Given the description of an element on the screen output the (x, y) to click on. 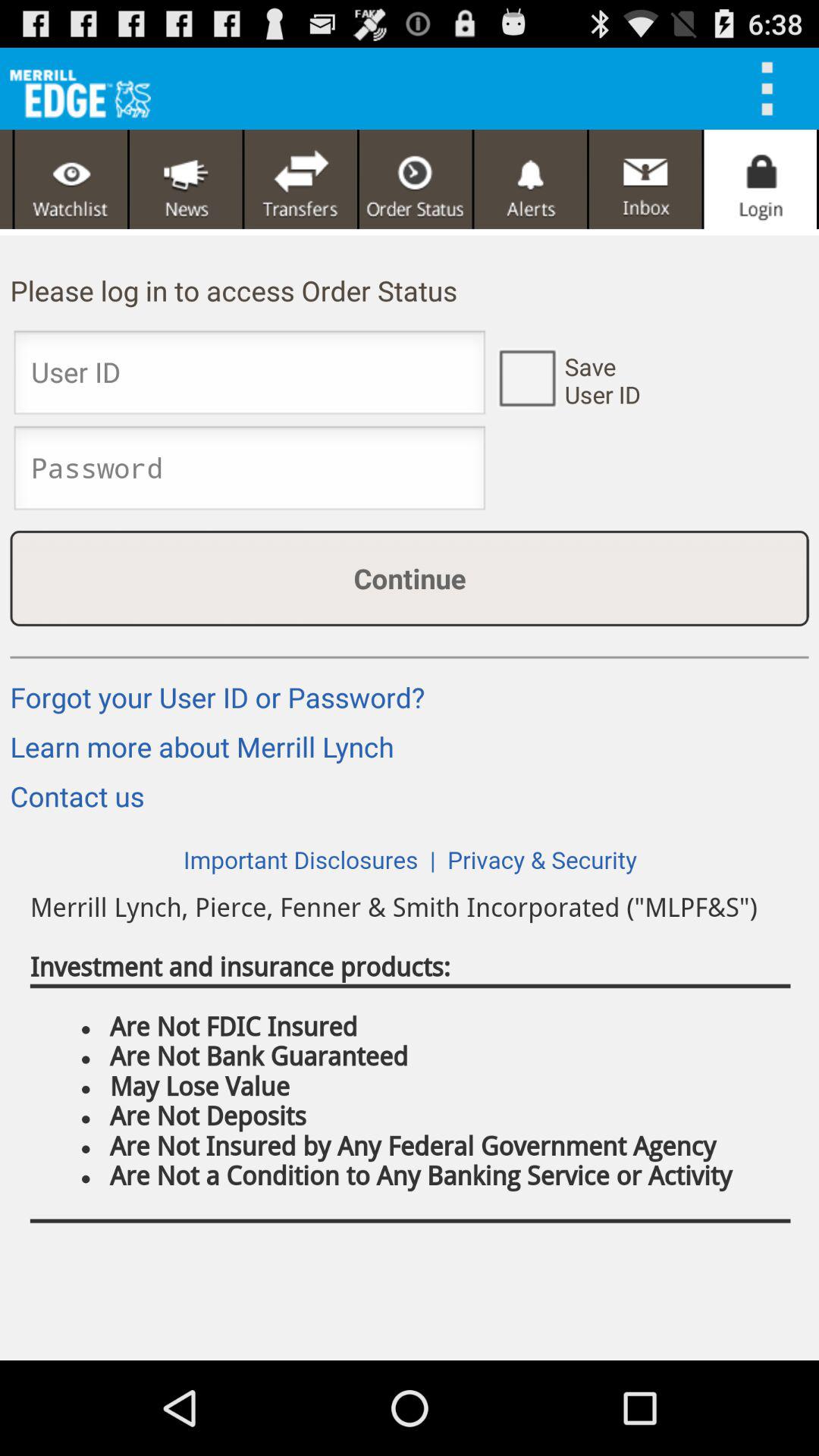
go to transfers (300, 179)
